Given the description of an element on the screen output the (x, y) to click on. 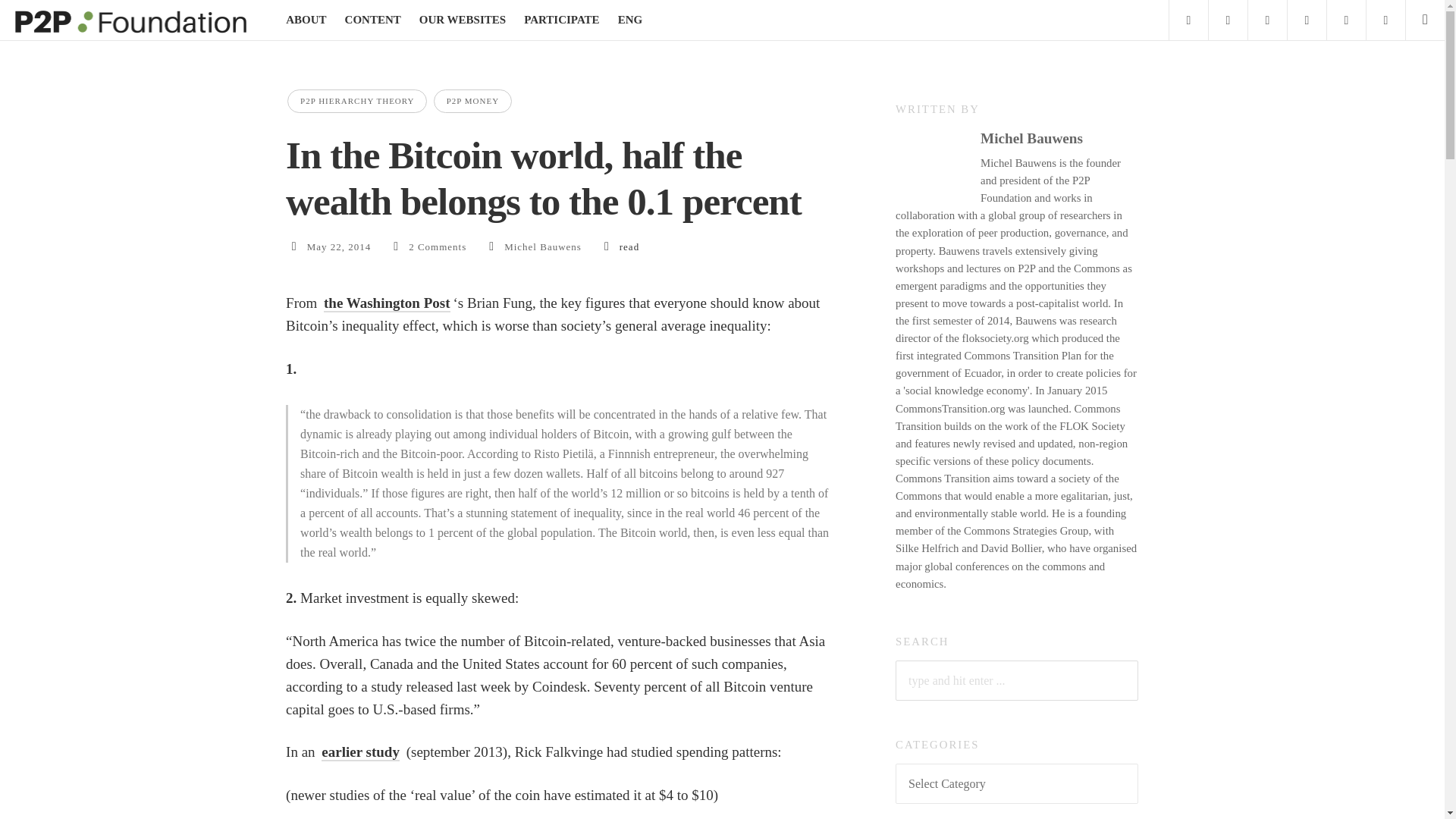
PARTICIPATE (561, 20)
ABOUT (305, 20)
CONTENT (373, 20)
OUR WEBSITES (462, 20)
